Given the description of an element on the screen output the (x, y) to click on. 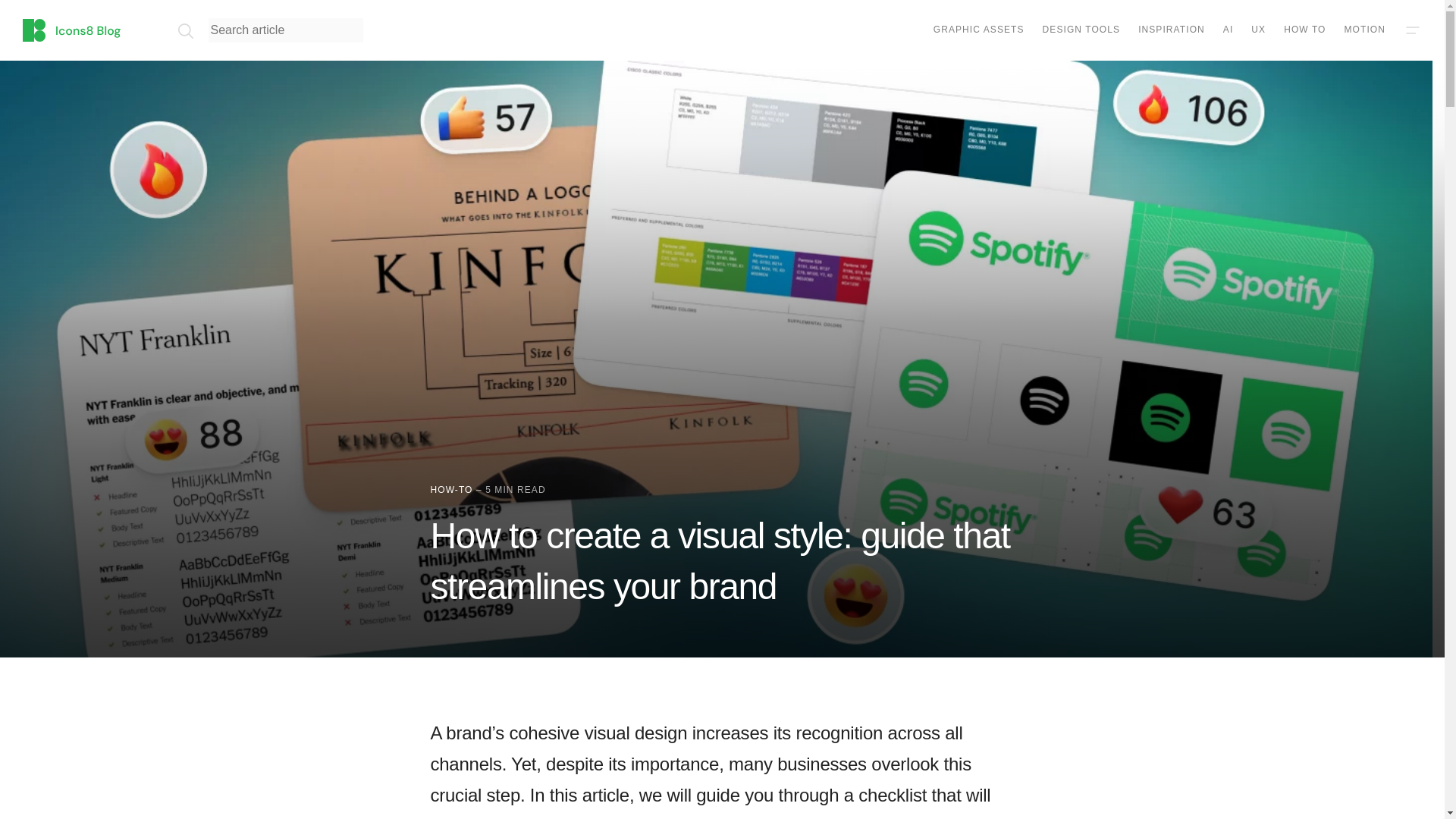
MOTION (1364, 29)
UX (1257, 29)
INSPIRATION (1171, 29)
GRAPHIC ASSETS (979, 29)
HOW TO (1304, 29)
DESIGN TOOLS (1081, 29)
AI (1228, 29)
